Given the description of an element on the screen output the (x, y) to click on. 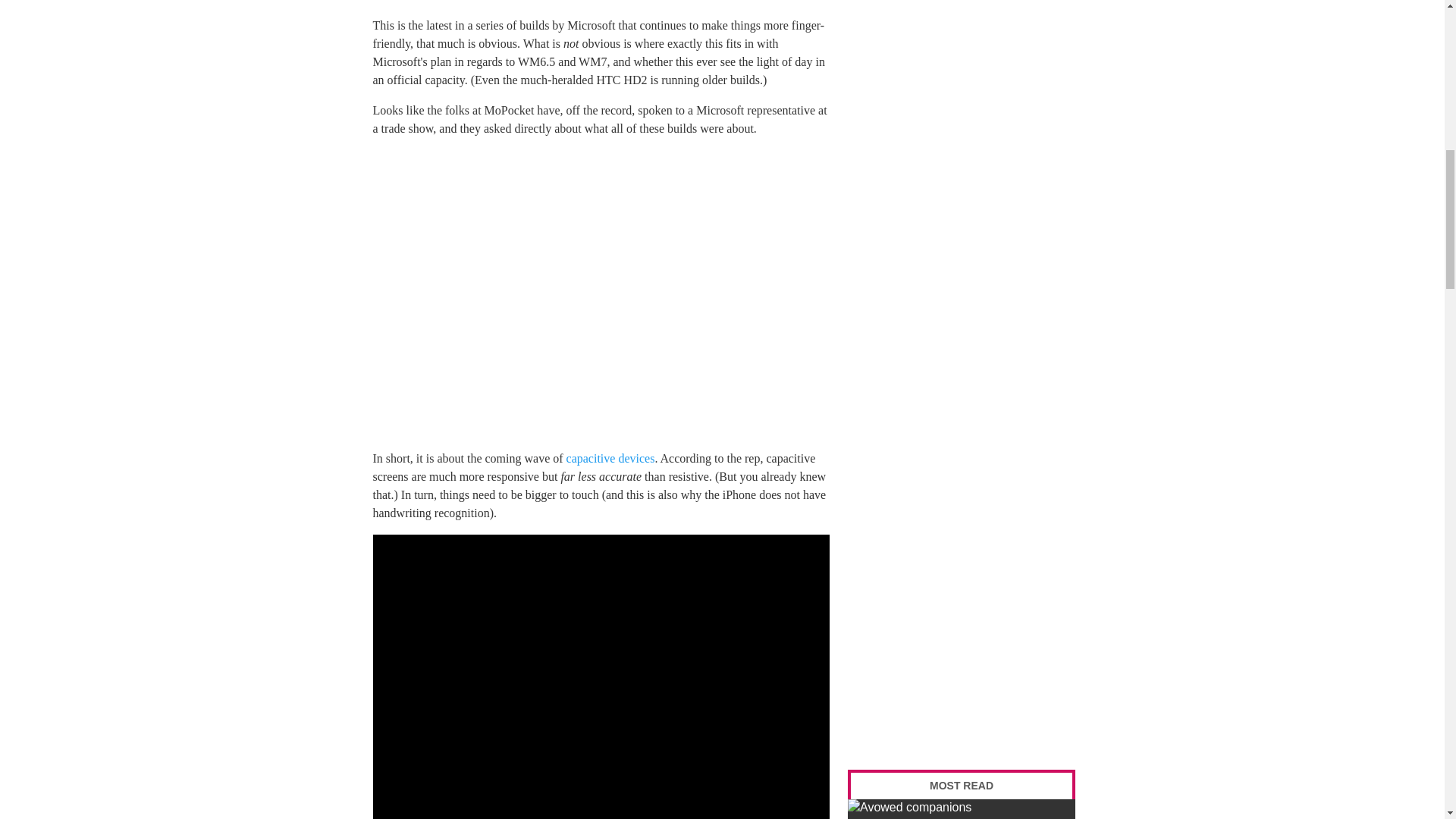
capacitive devices (610, 458)
